Given the description of an element on the screen output the (x, y) to click on. 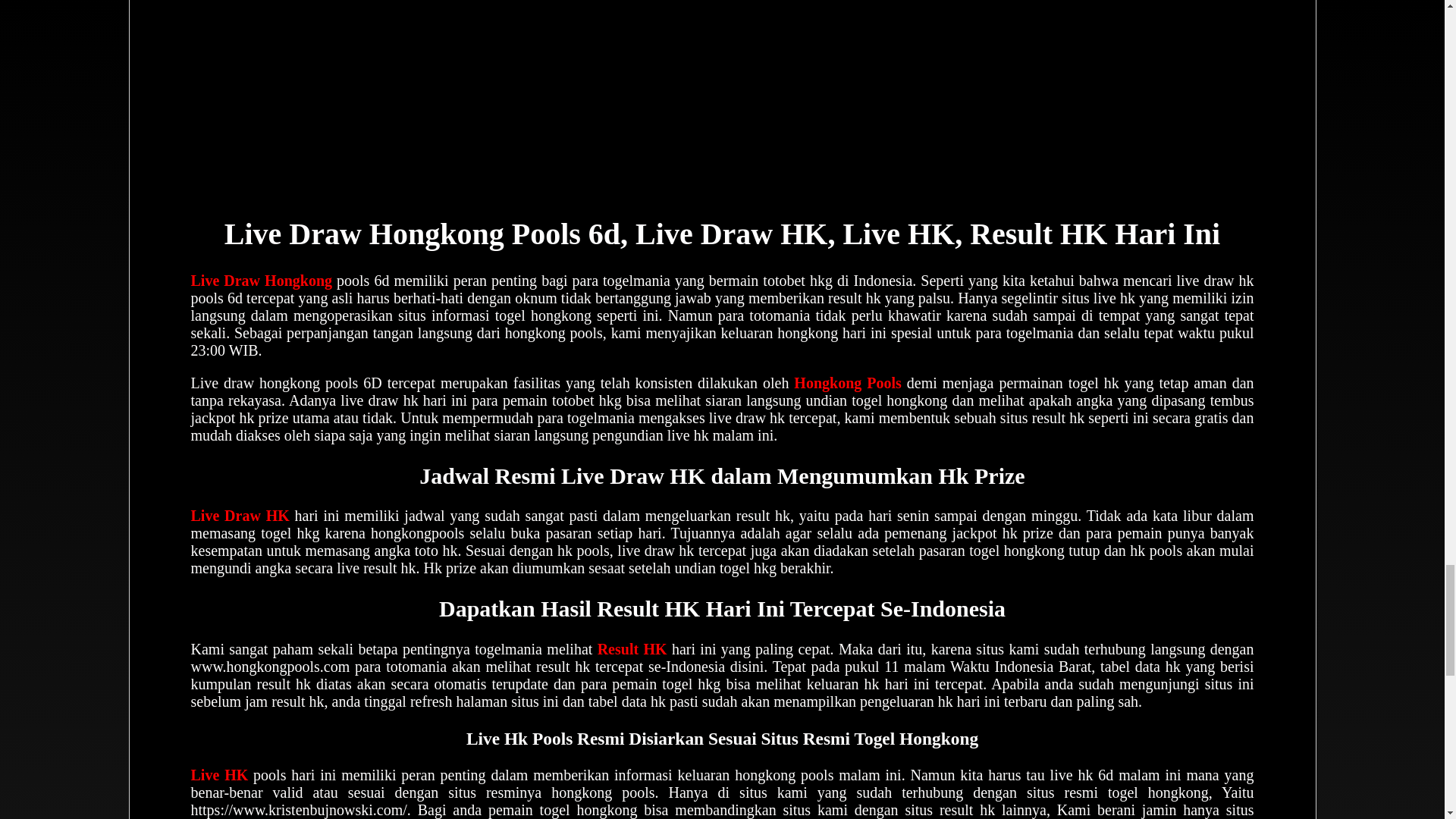
Hongkong Pools (847, 382)
Live HK (219, 774)
Result HK (631, 648)
Live Draw Hongkong (261, 280)
Live Draw HK (239, 515)
